Given the description of an element on the screen output the (x, y) to click on. 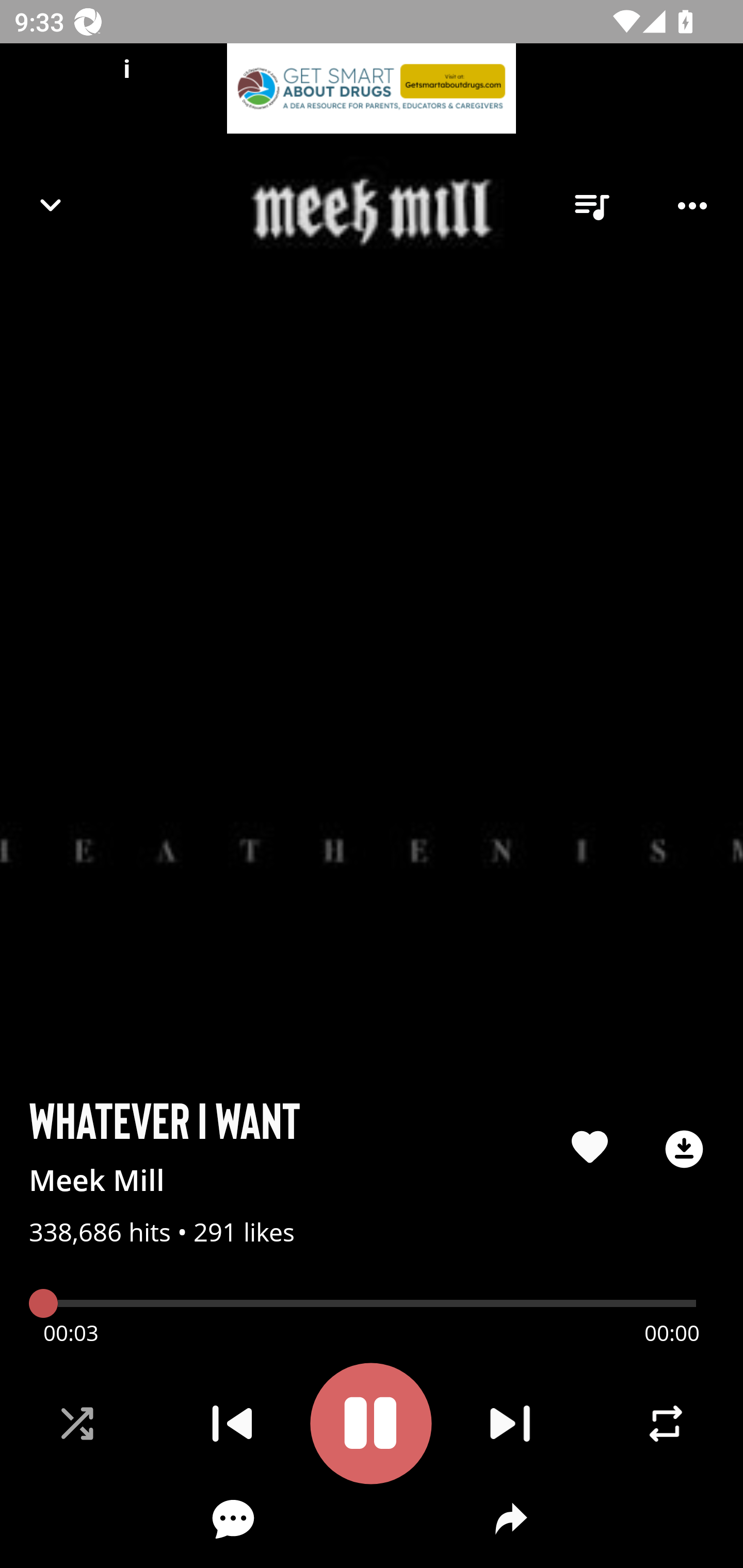
Navigate up (50, 205)
queue (590, 206)
Player options (692, 206)
